Given the description of an element on the screen output the (x, y) to click on. 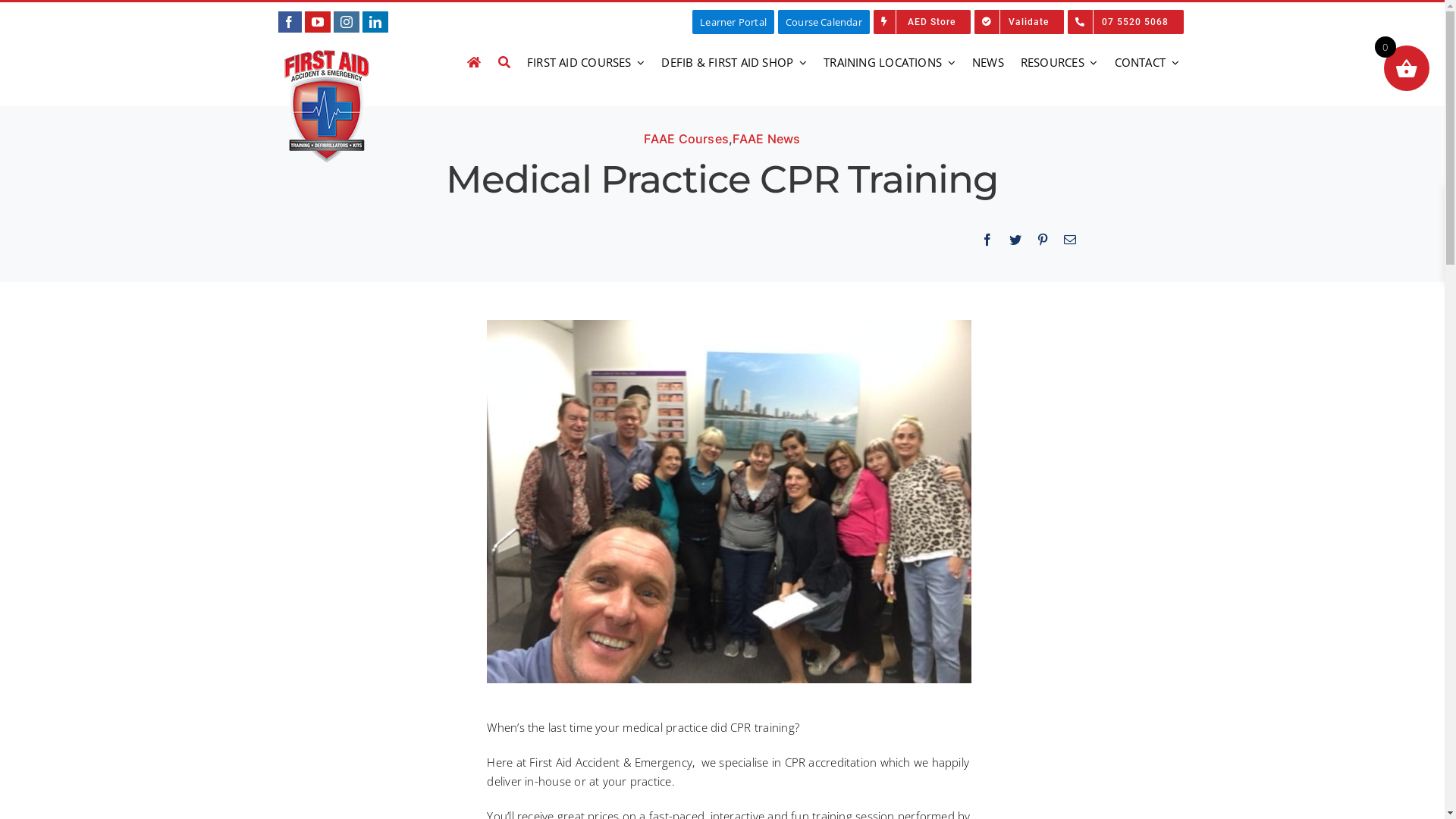
Facebook Element type: hover (288, 21)
DEFIB & FIRST AID SHOP Element type: text (733, 62)
07 5520 5068 Element type: text (1125, 21)
CONTACT Element type: text (1146, 62)
FAAE Courses Element type: text (685, 138)
FAAE News Element type: text (766, 138)
YouTube Element type: hover (317, 21)
NEWS Element type: text (987, 62)
Course Calendar Element type: text (823, 21)
Search Element type: hover (503, 62)
FIRST AID COURSES Element type: text (585, 62)
LinkedIn Element type: hover (375, 21)
RESOURCES Element type: text (1059, 62)
Validate Element type: text (1018, 21)
TRAINING LOCATIONS Element type: text (889, 62)
Broadbeach Medical Centre Element type: hover (728, 501)
AED Store Element type: text (921, 21)
Instagram Element type: hover (346, 21)
Learner Portal Element type: text (733, 21)
